Given the description of an element on the screen output the (x, y) to click on. 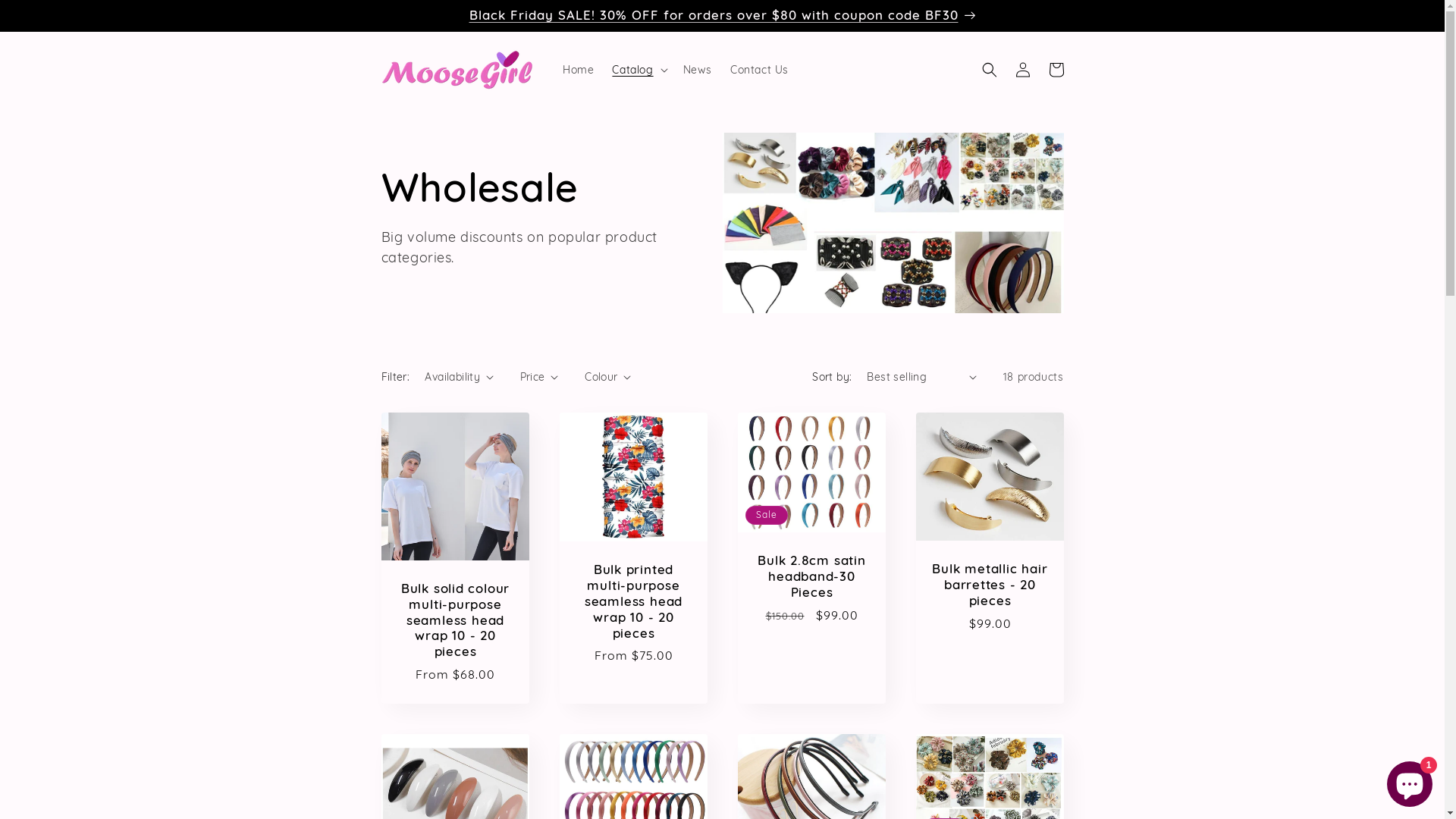
Shopify online store chat Element type: hover (1409, 780)
Contact Us Element type: text (759, 69)
Log in Element type: text (1021, 69)
Cart Element type: text (1055, 69)
Bulk 2.8cm satin headband-30 Pieces Element type: text (810, 575)
News Element type: text (697, 69)
Bulk metallic hair barrettes - 20 pieces Element type: text (989, 584)
Home Element type: text (577, 69)
Bulk printed multi-purpose seamless head wrap 10 - 20 pieces Element type: text (633, 600)
